Given the description of an element on the screen output the (x, y) to click on. 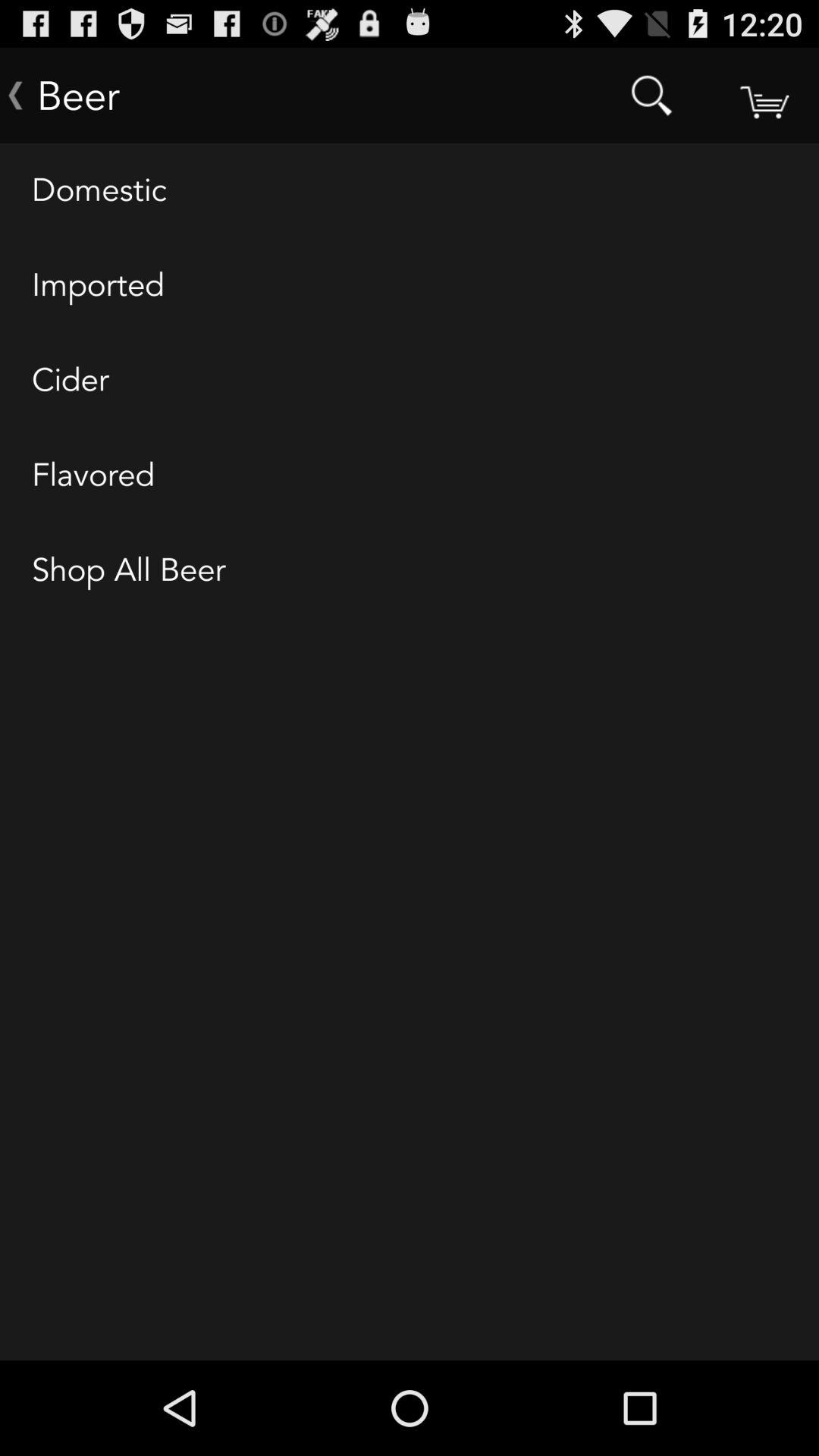
choose item below the cider (409, 475)
